Given the description of an element on the screen output the (x, y) to click on. 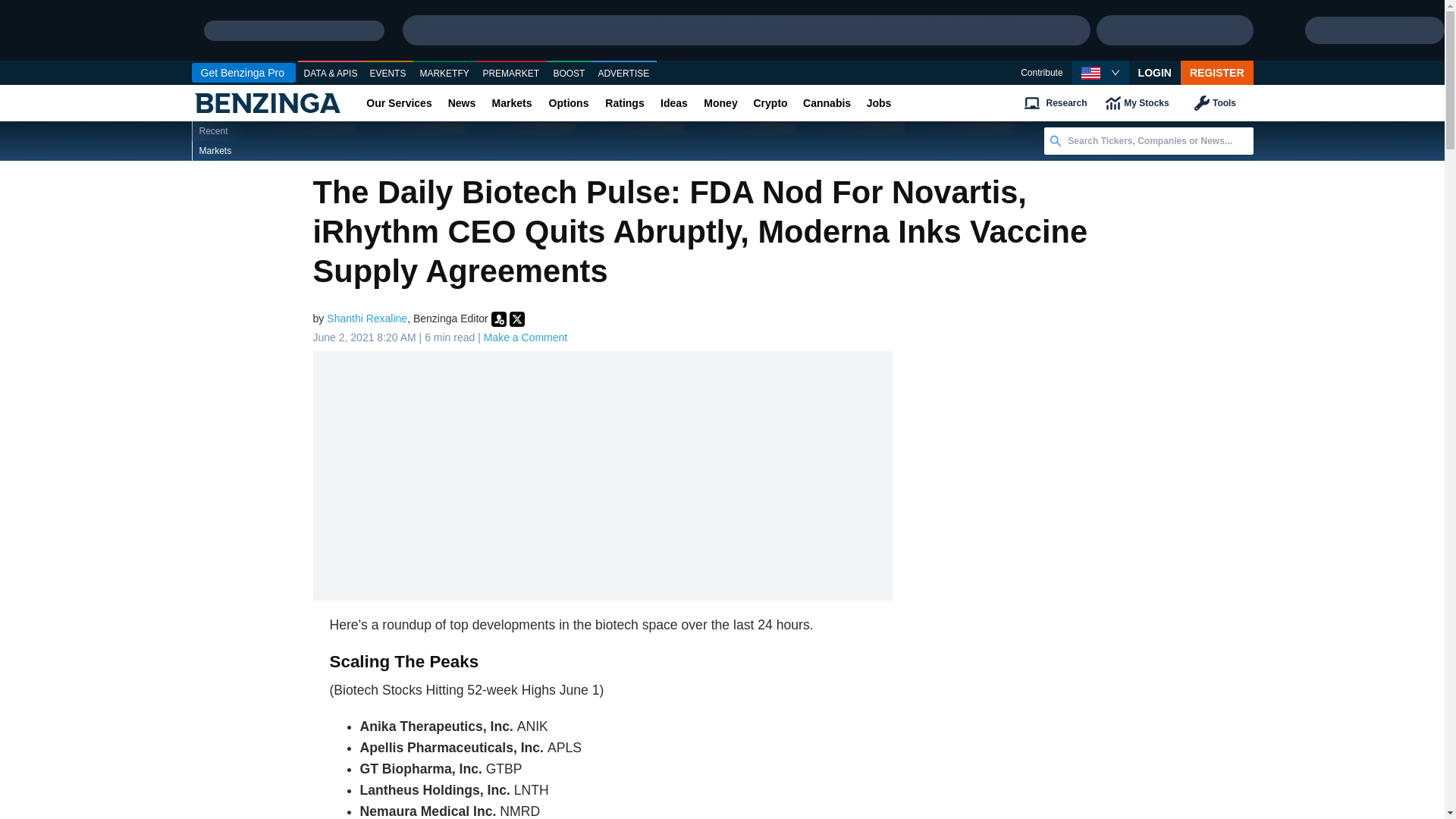
GET THIS DEAL (1174, 30)
Our Services (398, 103)
Our Services (398, 103)
MARKETFY (444, 73)
PREMARKET (511, 73)
USA (1090, 72)
LOGIN (1154, 72)
Get Benzinga Pro (242, 72)
ADVERTISE (623, 73)
News (461, 103)
